Given the description of an element on the screen output the (x, y) to click on. 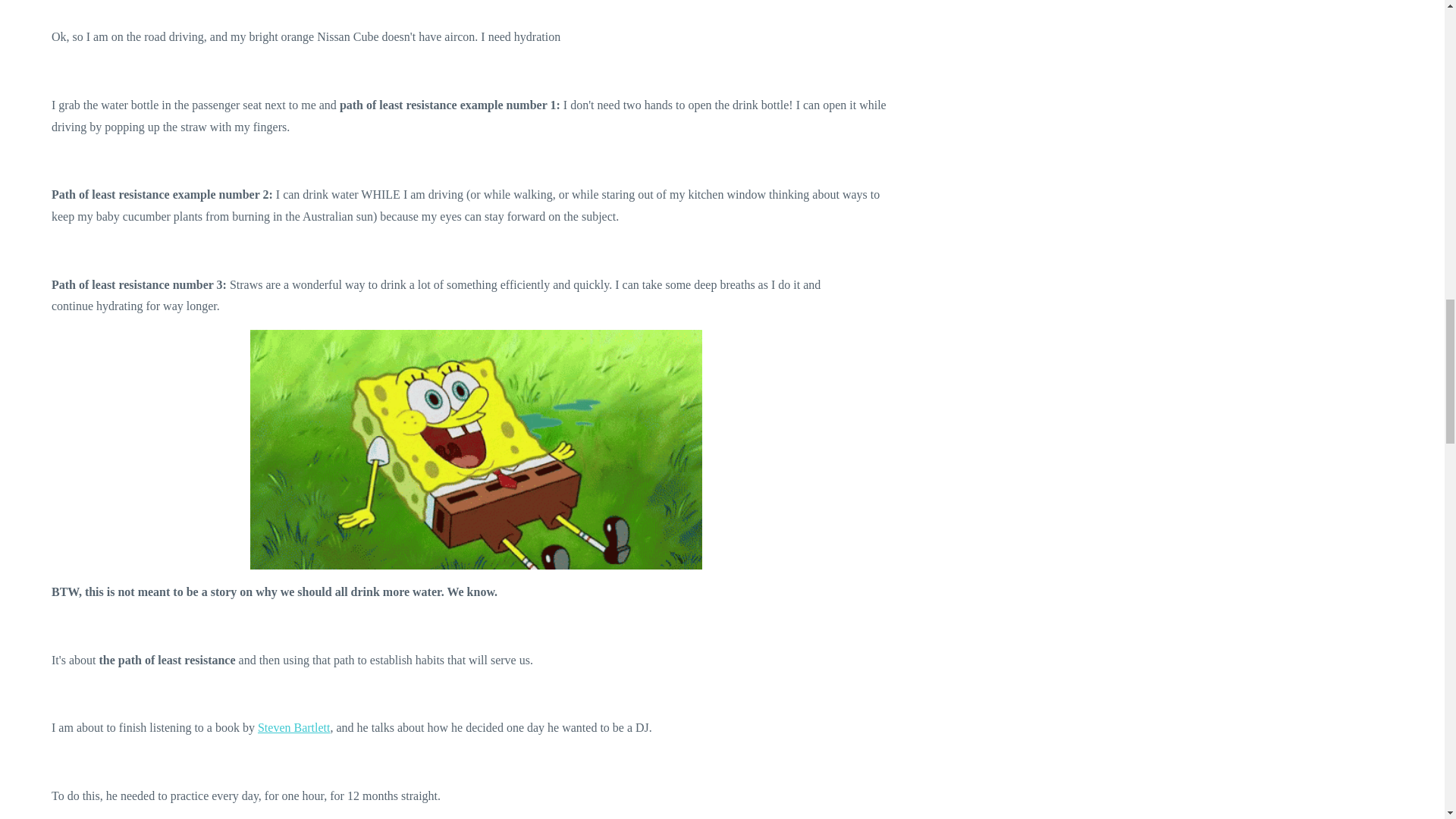
Steven Bartlett (293, 727)
